Given the description of an element on the screen output the (x, y) to click on. 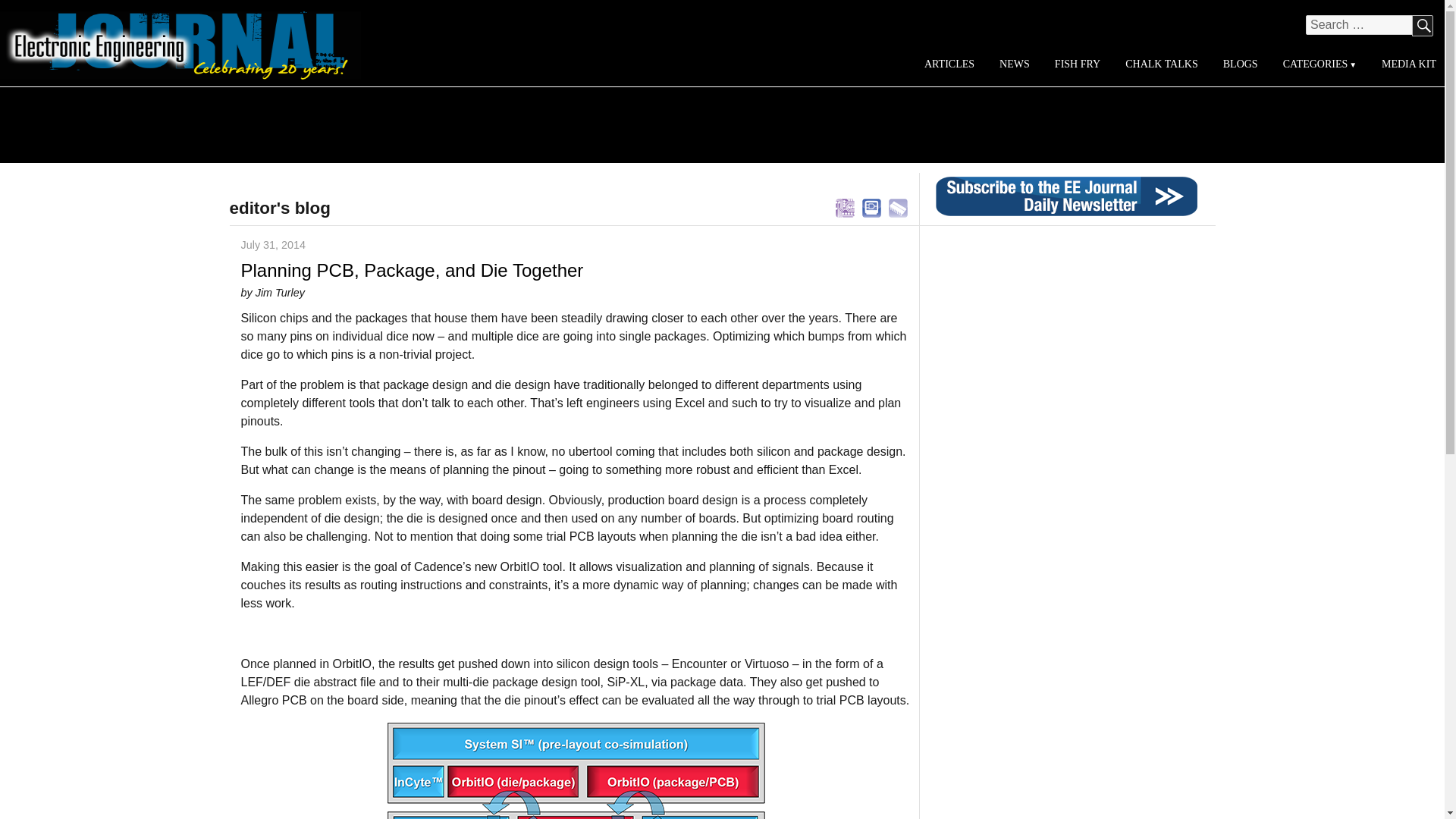
CATEGORIES (1318, 63)
EDA (872, 206)
BLOGS (1239, 63)
NEWS (1014, 63)
Board (845, 206)
FISH FRY (1077, 63)
Semiconductor (898, 206)
CHALK TALKS (1161, 63)
ARTICLES (949, 63)
